Given the description of an element on the screen output the (x, y) to click on. 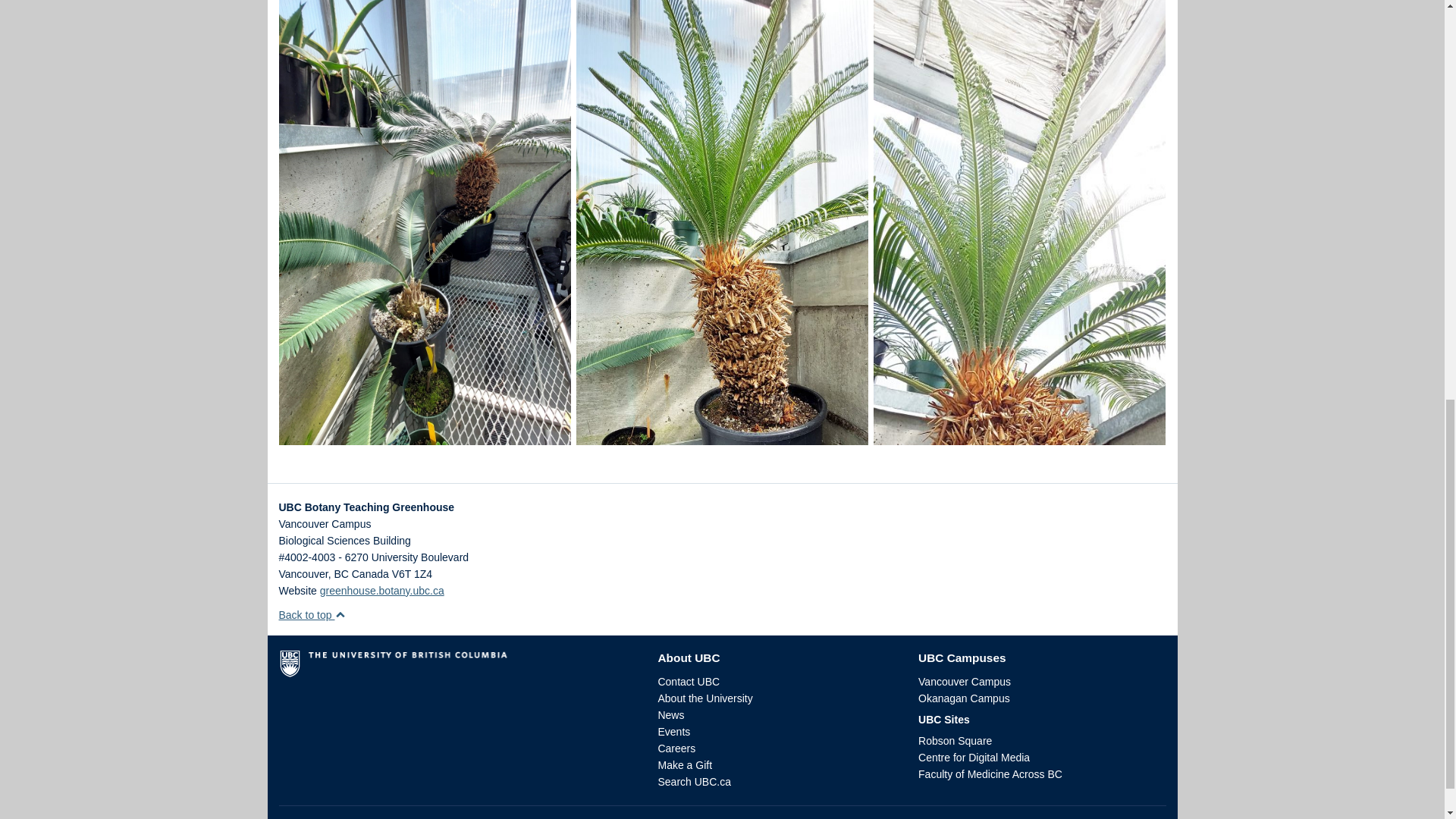
Contact UBC (688, 681)
News (671, 715)
Back to top (312, 614)
Back to top (312, 614)
The University of British Columbia (456, 669)
Events (674, 731)
About the University (705, 698)
greenhouse.botany.ubc.ca (382, 590)
